Given the description of an element on the screen output the (x, y) to click on. 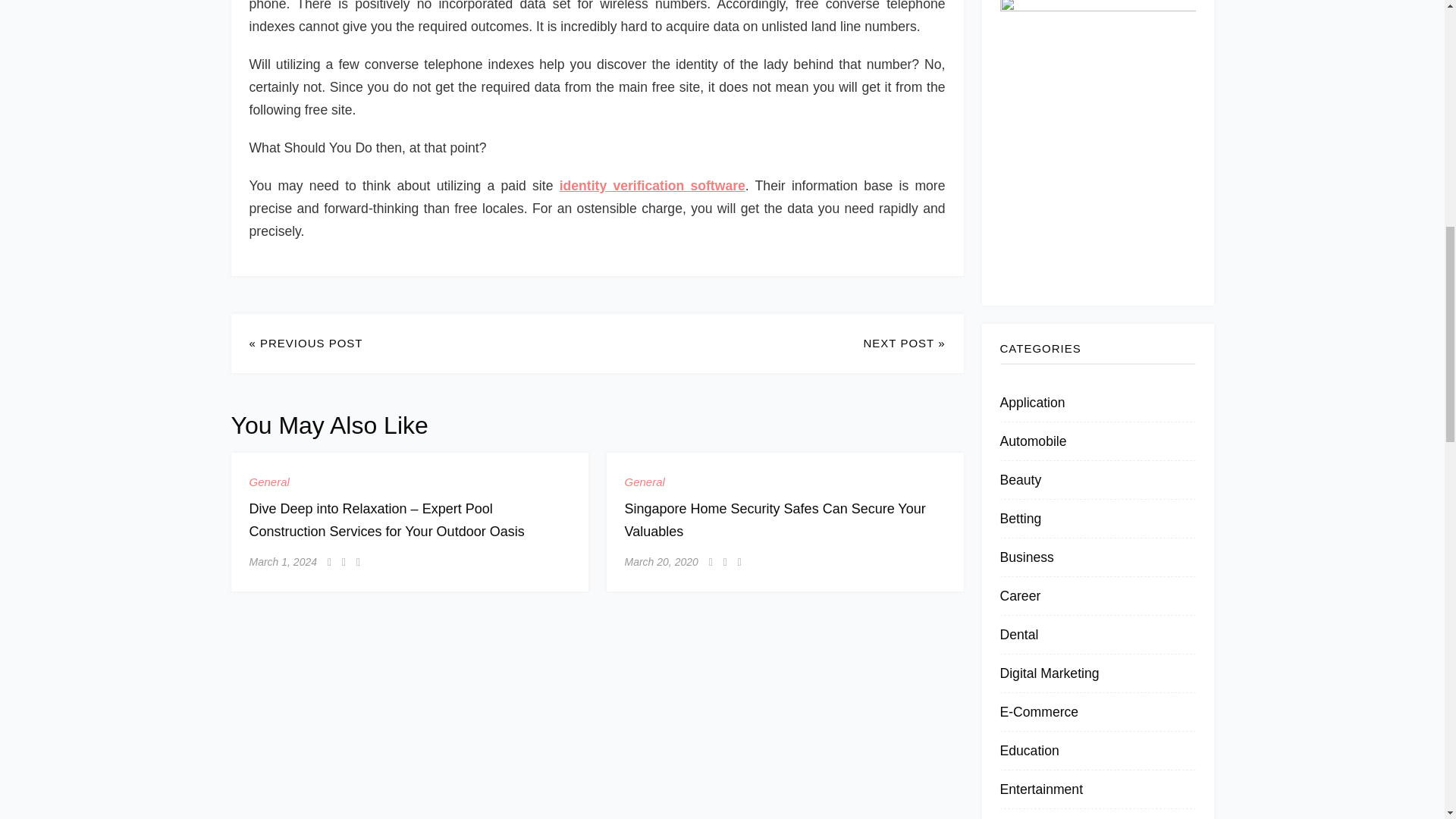
identity verification software (652, 185)
Betting (1019, 518)
Automobile (1031, 441)
Dental (1018, 634)
Beauty (1019, 479)
Career (1019, 595)
Business (1025, 557)
Application (1031, 402)
March 20, 2020 (661, 562)
March 1, 2024 (282, 562)
General (268, 481)
Singapore Home Security Safes Can Secure Your Valuables (775, 519)
General (644, 481)
